Given the description of an element on the screen output the (x, y) to click on. 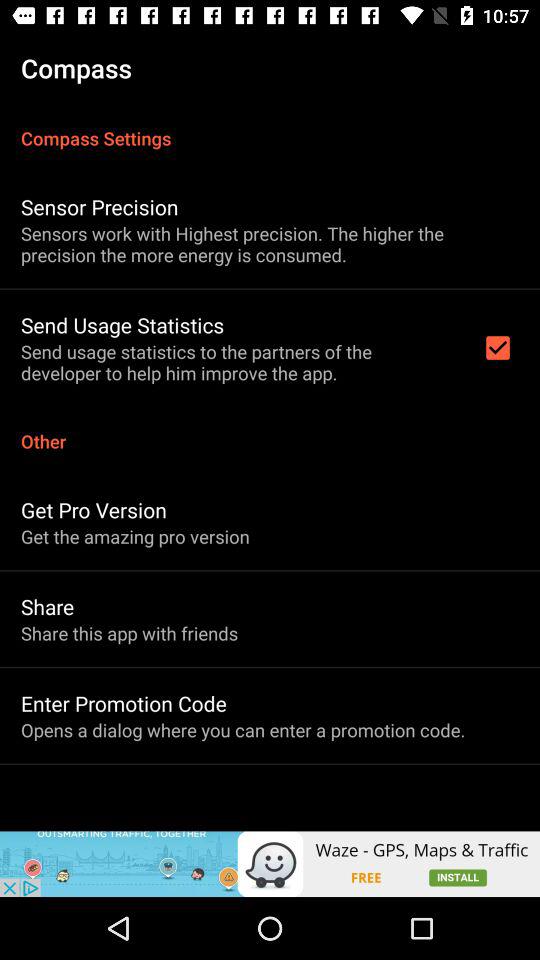
open the compass settings icon (270, 127)
